Given the description of an element on the screen output the (x, y) to click on. 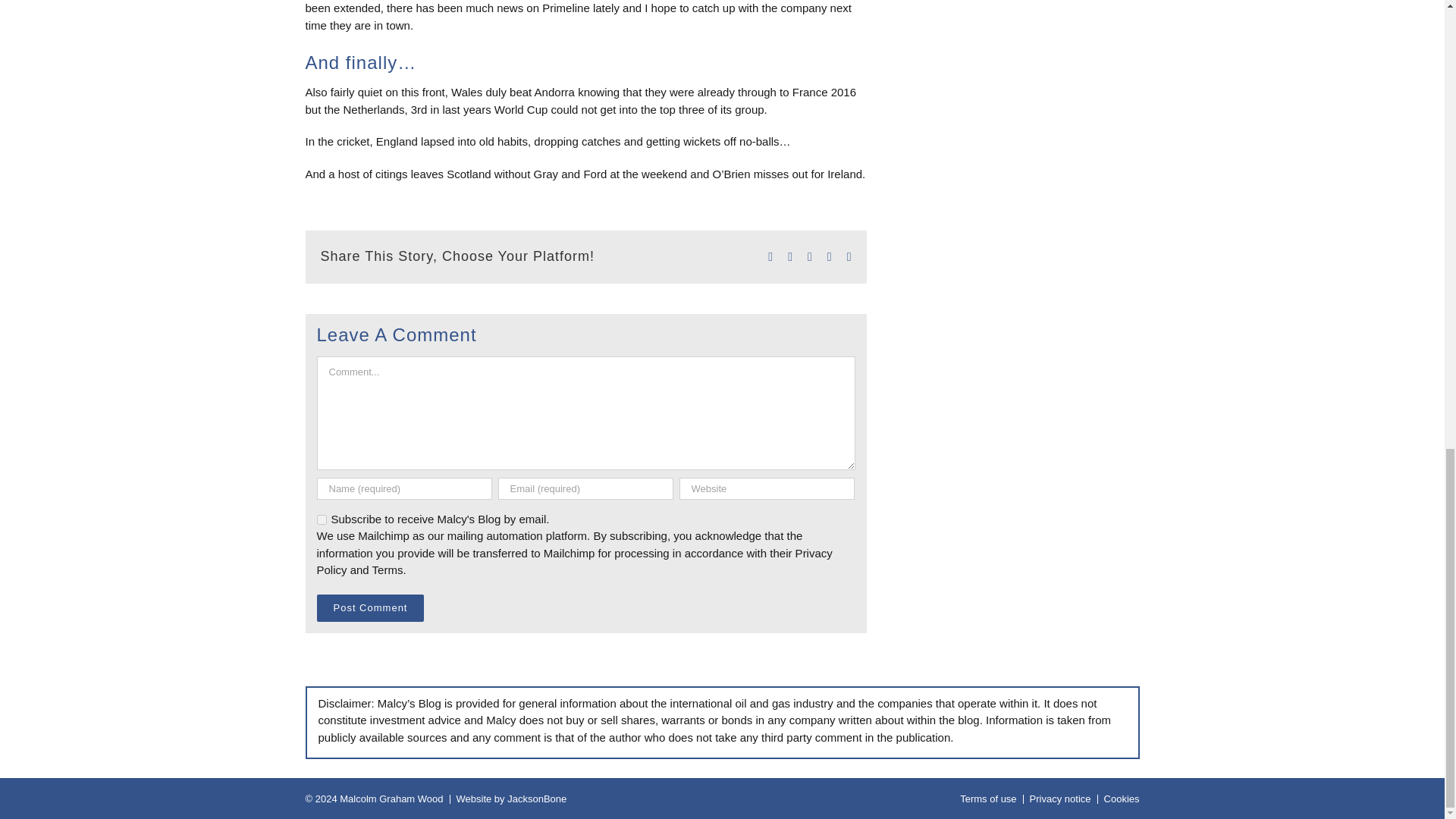
1 (321, 519)
JacksonBone (536, 798)
Privacy notice (1059, 798)
Post Comment (371, 606)
Terms of use (987, 798)
Post Comment (371, 606)
Cookies (1121, 798)
